Given the description of an element on the screen output the (x, y) to click on. 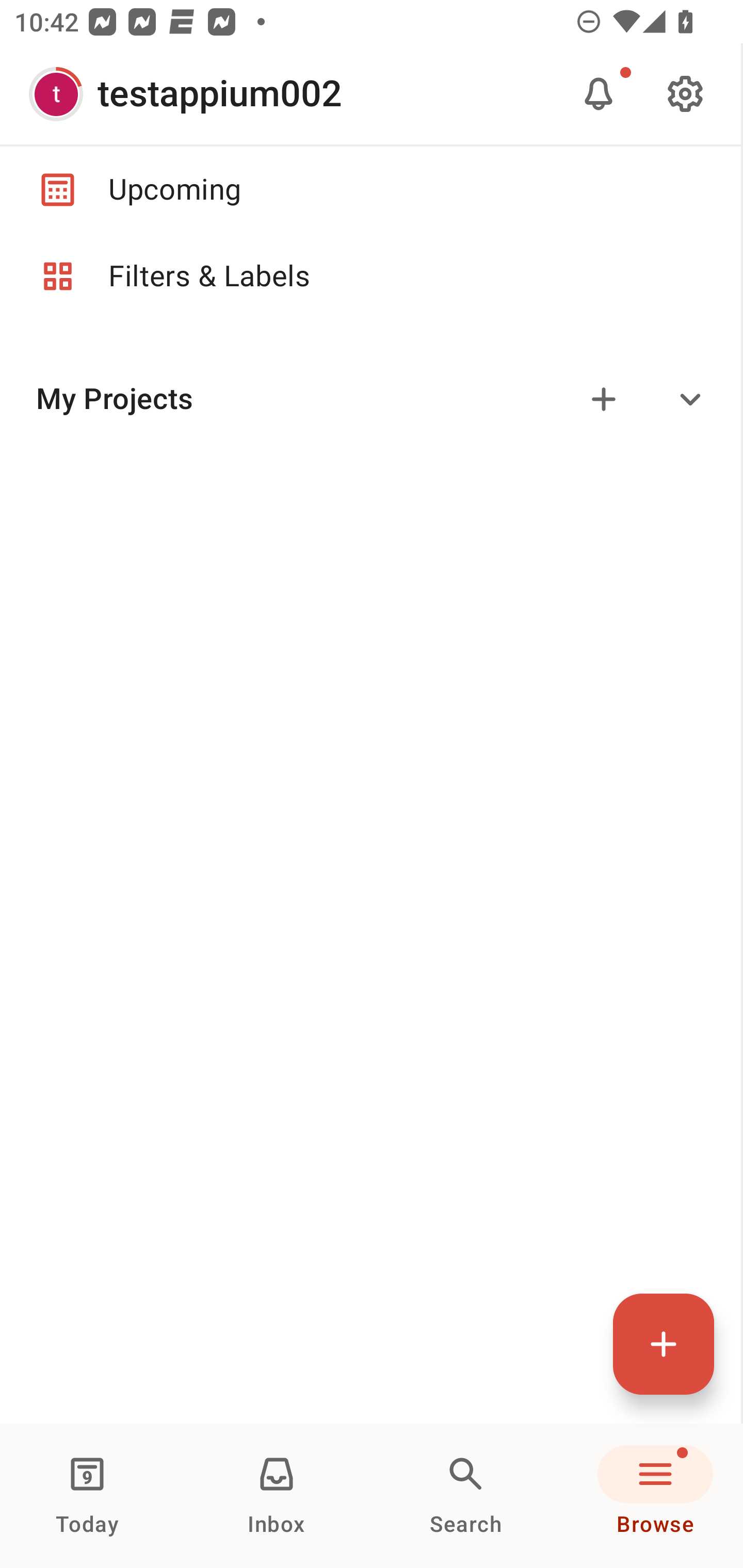
Notifications (598, 93)
Settings (684, 93)
Upcoming (370, 189)
Filters & Labels (370, 276)
My Projects Add Expand/collapse (370, 398)
Add (603, 398)
Expand/collapse (690, 398)
Quick add (663, 1343)
Today (87, 1495)
Inbox (276, 1495)
Search (465, 1495)
